Given the description of an element on the screen output the (x, y) to click on. 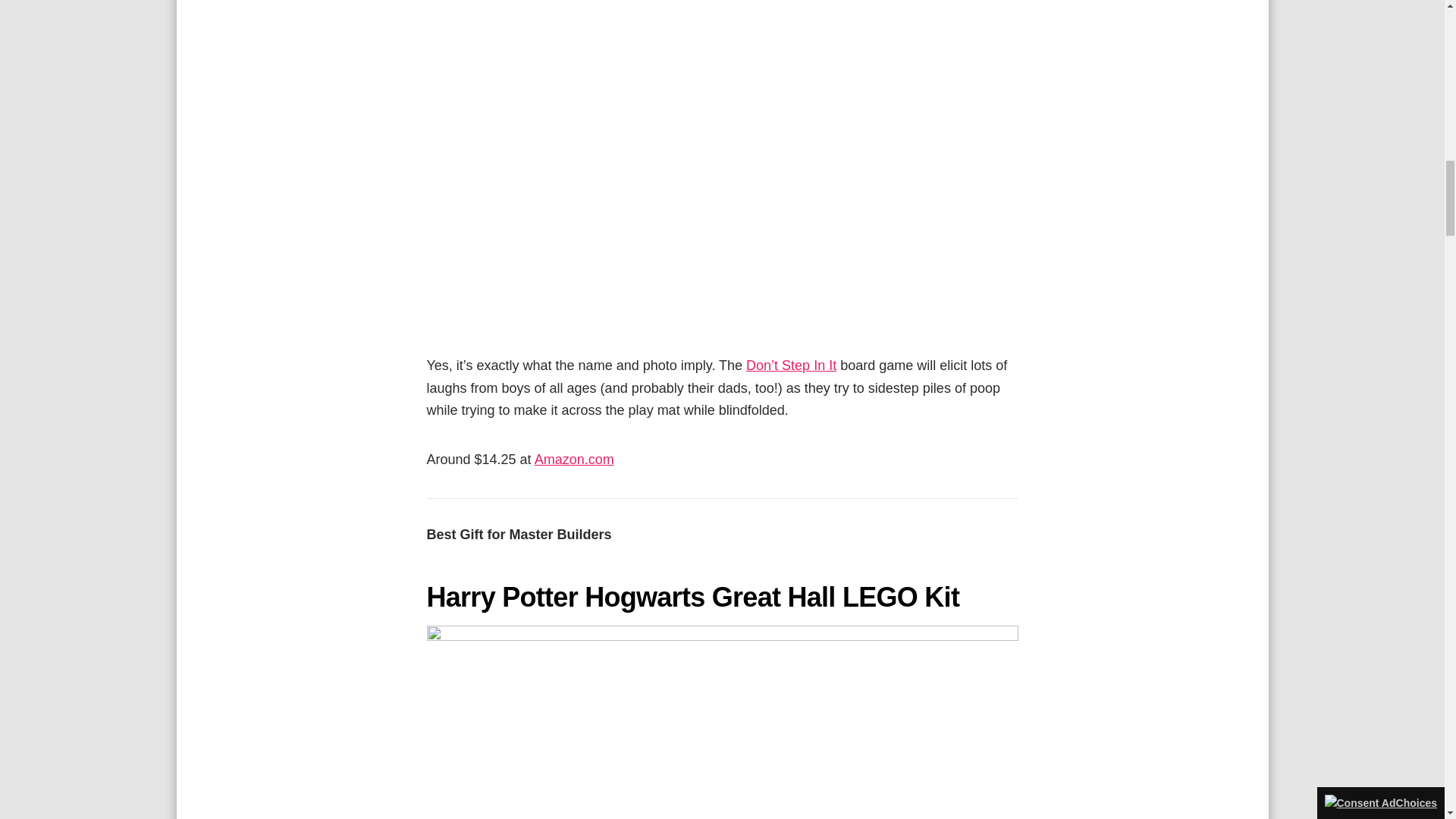
Amazon.com (574, 459)
